Given the description of an element on the screen output the (x, y) to click on. 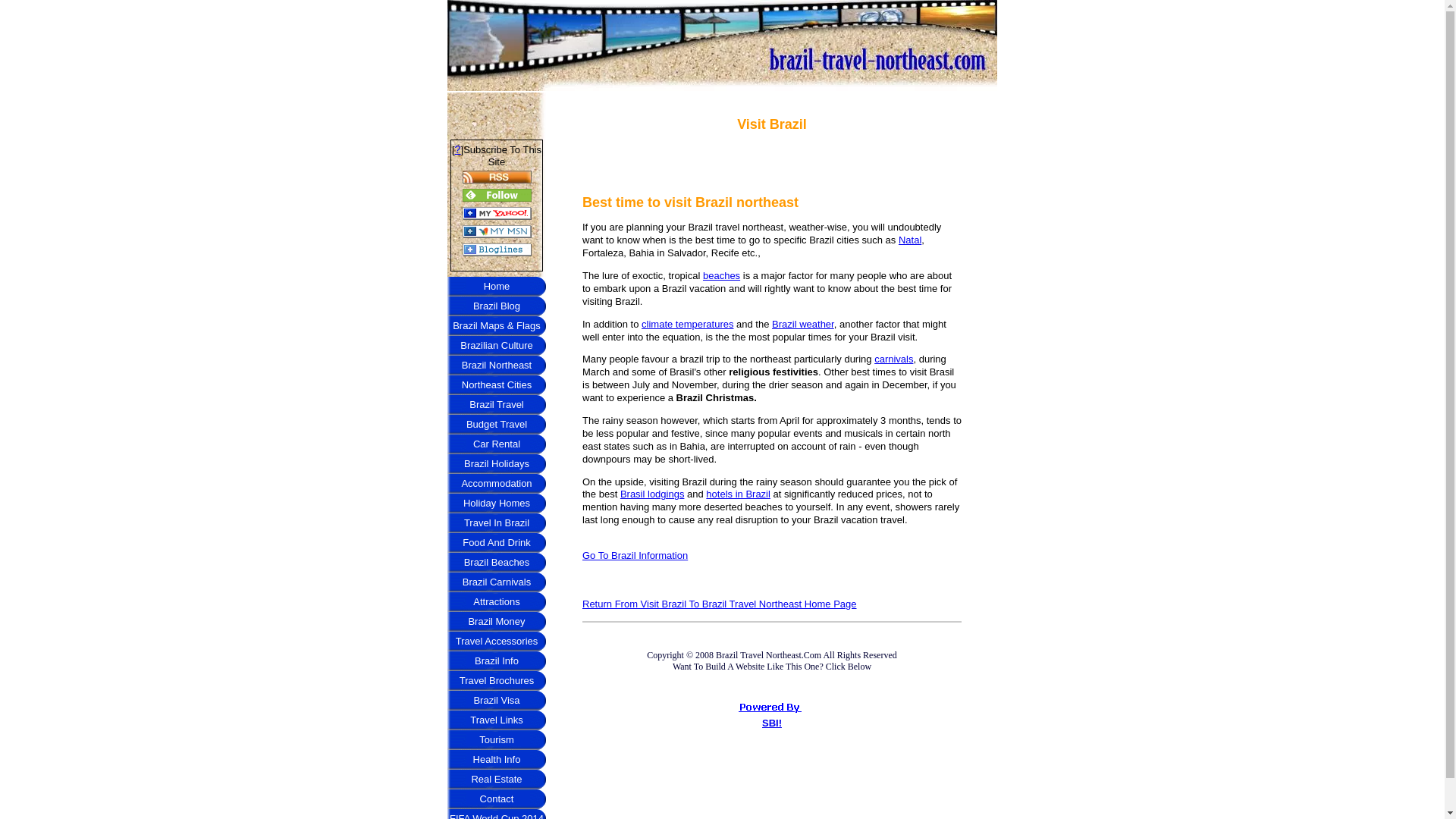
Brazil weather (802, 324)
Travel Links (496, 720)
Travel Accessories (496, 641)
Budget Travel (496, 424)
Travel Brochures (496, 680)
Food And Drink (496, 542)
Brazil Carnivals (496, 582)
beaches (721, 275)
Northeast Cities (496, 384)
Tourism (496, 740)
